Given the description of an element on the screen output the (x, y) to click on. 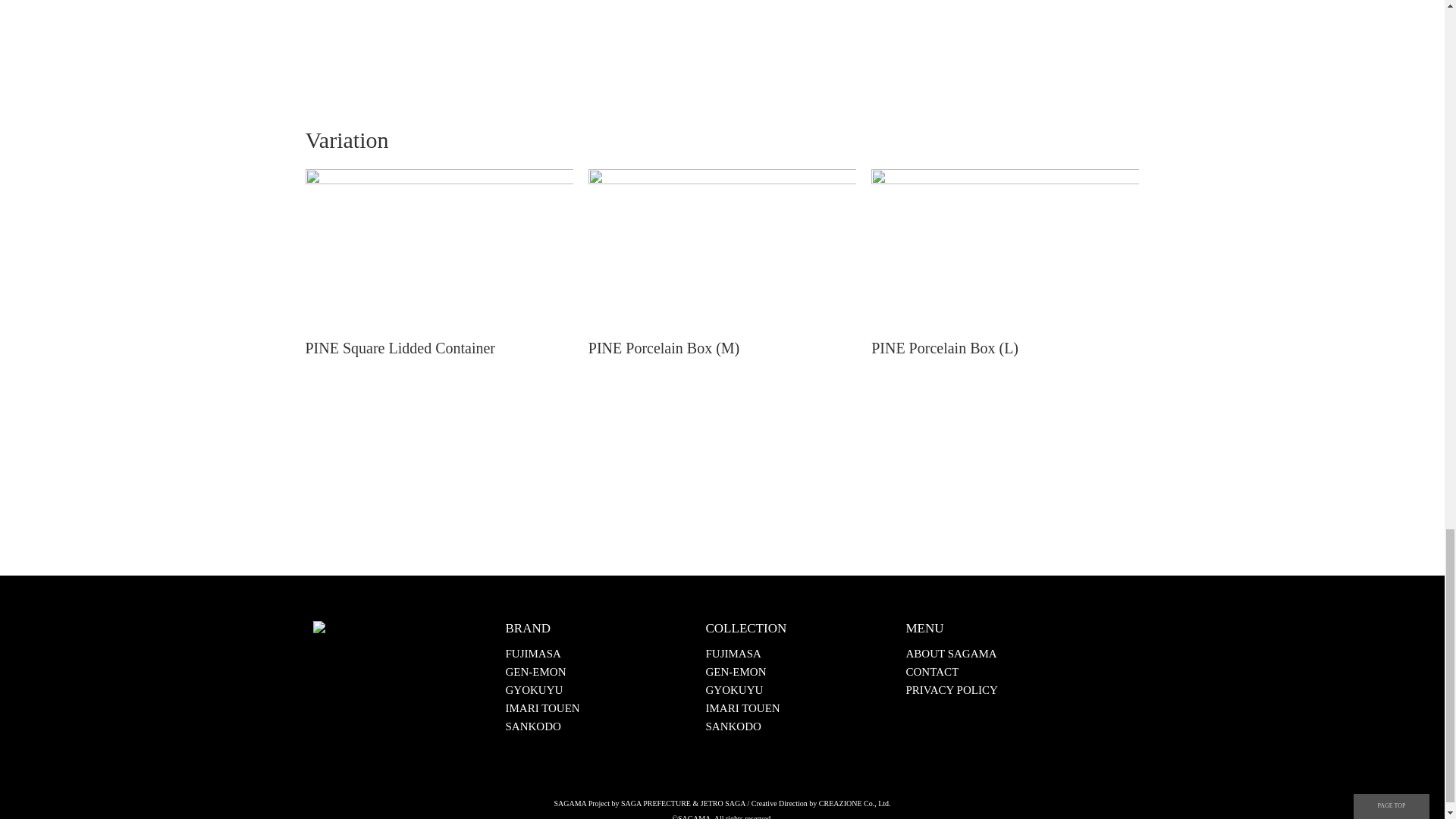
GEN-EMON (734, 671)
IMARI TOUEN (542, 707)
GYOKUYU (533, 689)
SANKODO (532, 726)
FUJIMASA (732, 653)
GYOKUYU (733, 689)
FUJIMASA (532, 653)
GEN-EMON (535, 671)
